Given the description of an element on the screen output the (x, y) to click on. 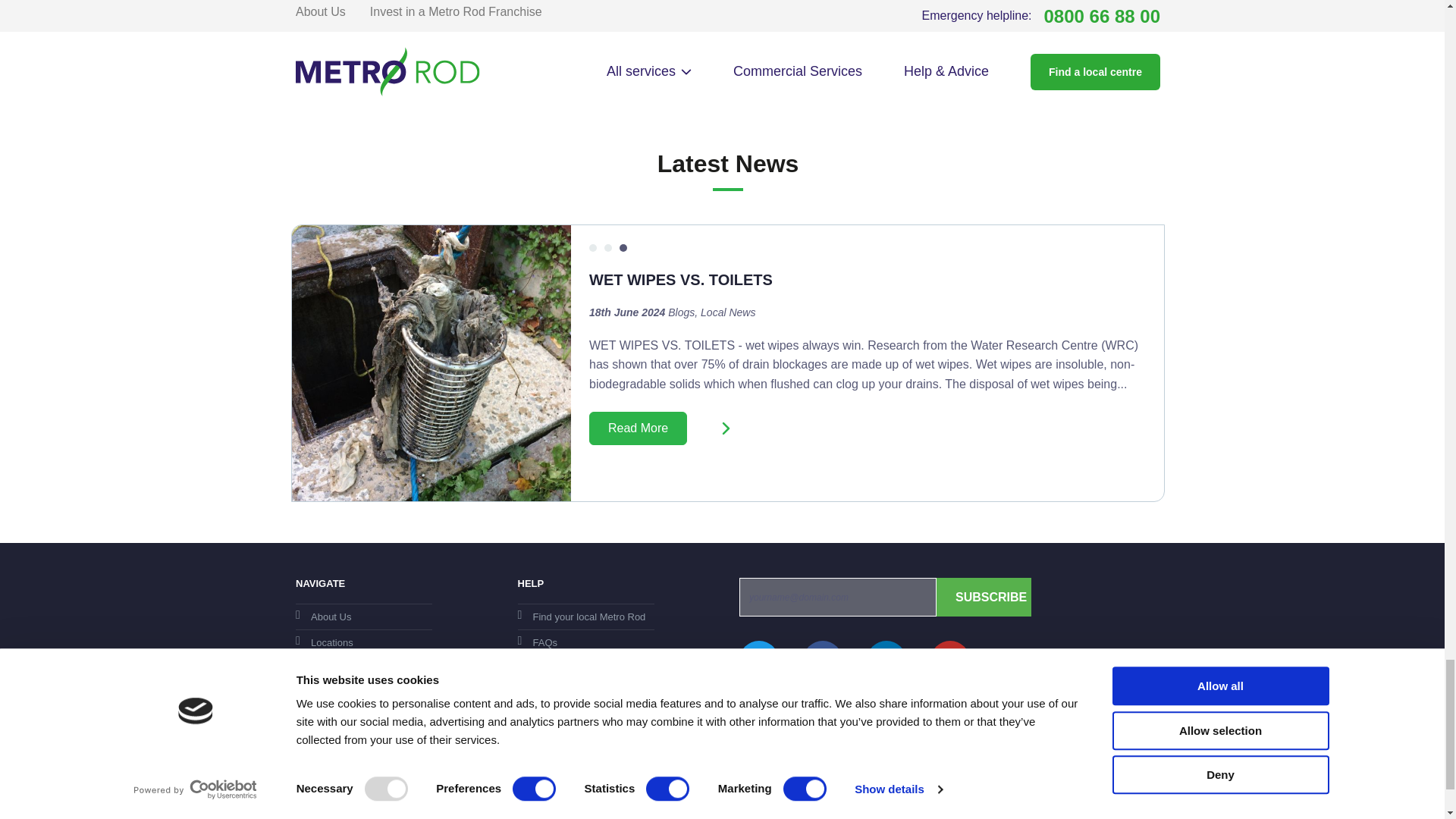
SUBSCRIBE (983, 597)
